Given the description of an element on the screen output the (x, y) to click on. 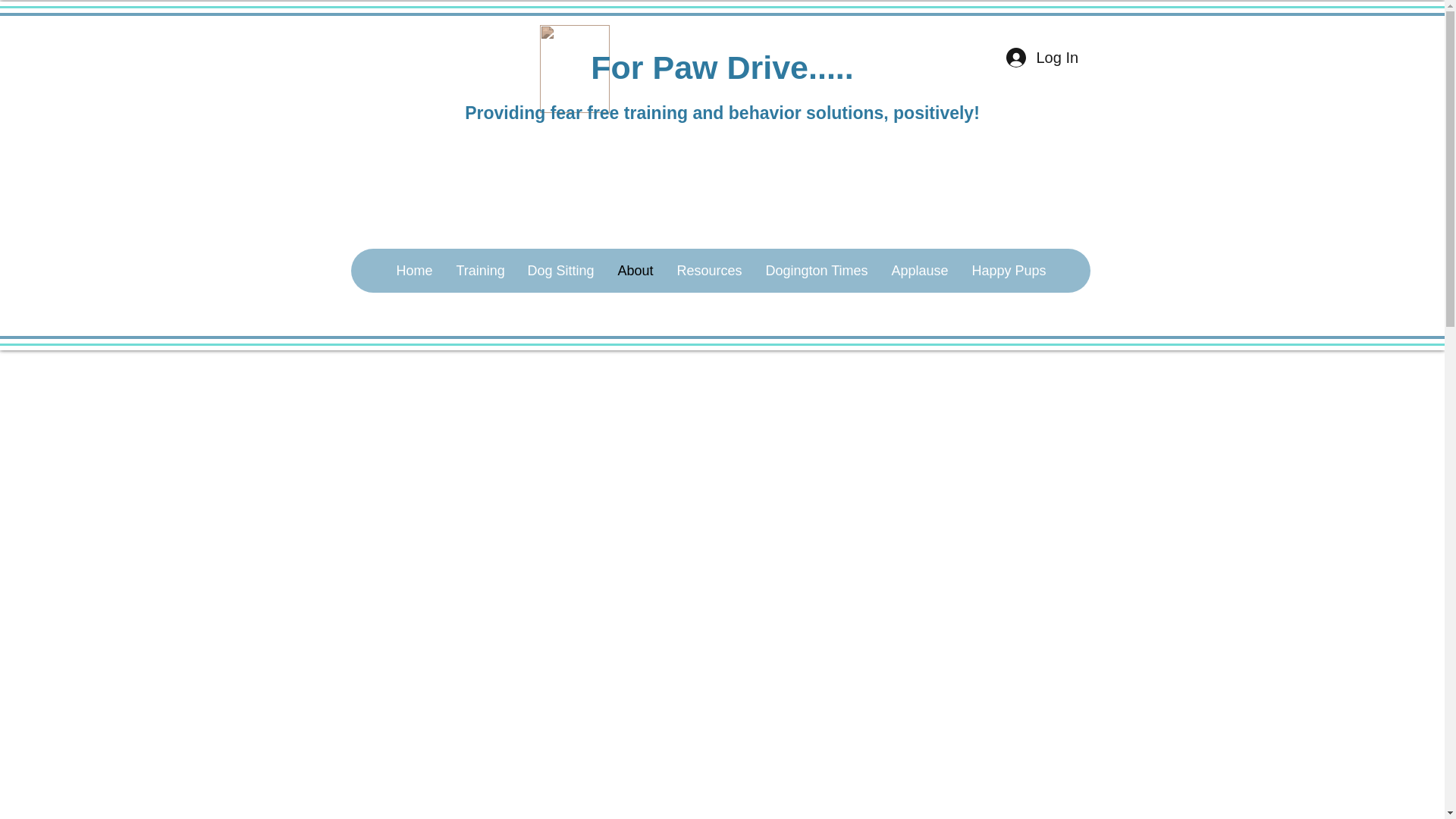
Resources (707, 270)
Home (414, 270)
Applause (919, 270)
Dog Sitting (560, 270)
Log In (1040, 57)
Dogington Times (816, 270)
About (634, 270)
Training (479, 270)
Happy Pups (1008, 270)
